Given the description of an element on the screen output the (x, y) to click on. 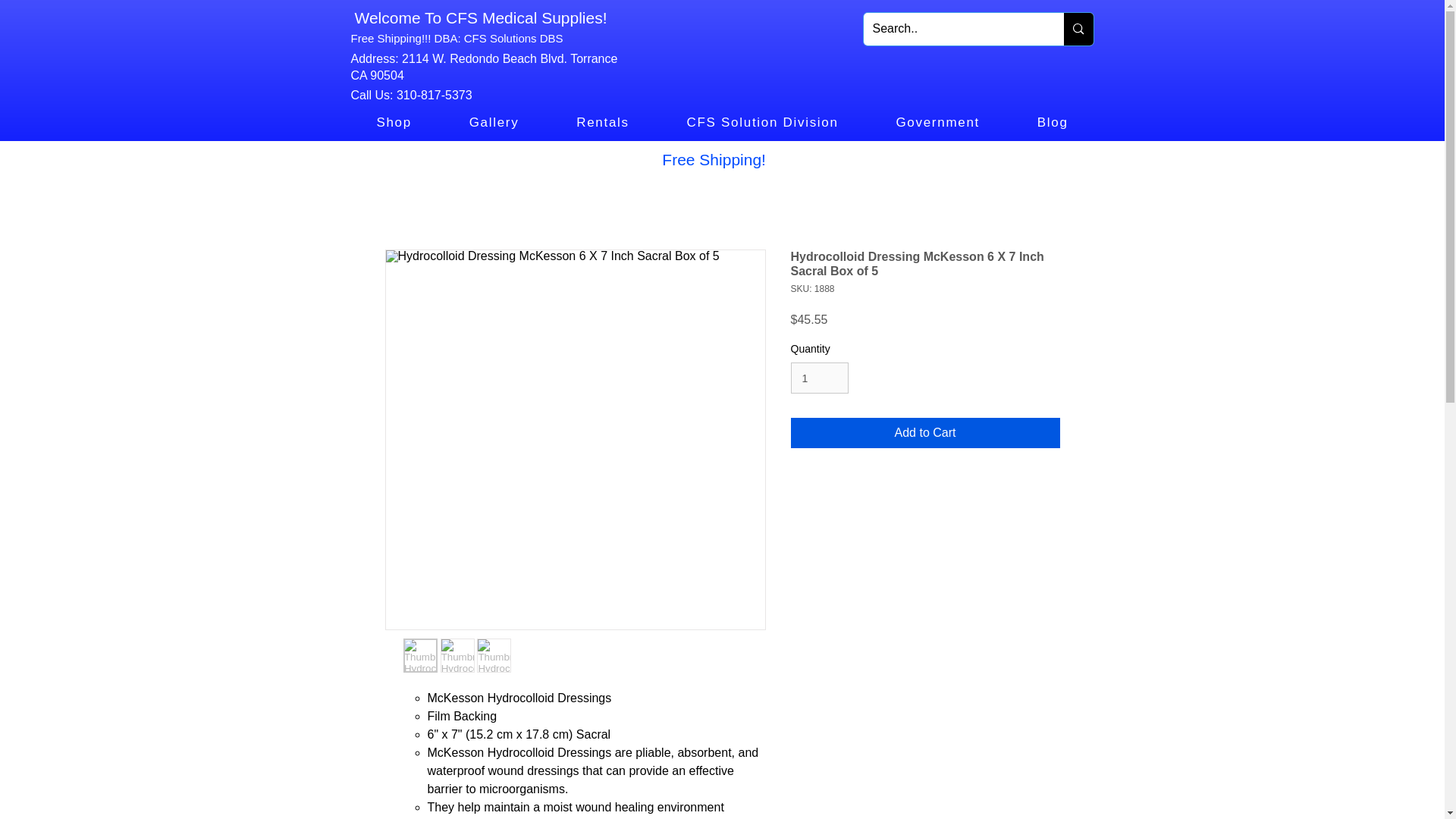
Shop (393, 122)
1 (818, 377)
Add to Cart (924, 432)
Government (938, 122)
Gallery (494, 122)
Rentals (601, 122)
CFS Solution Division (762, 122)
Blog (1052, 122)
